Given the description of an element on the screen output the (x, y) to click on. 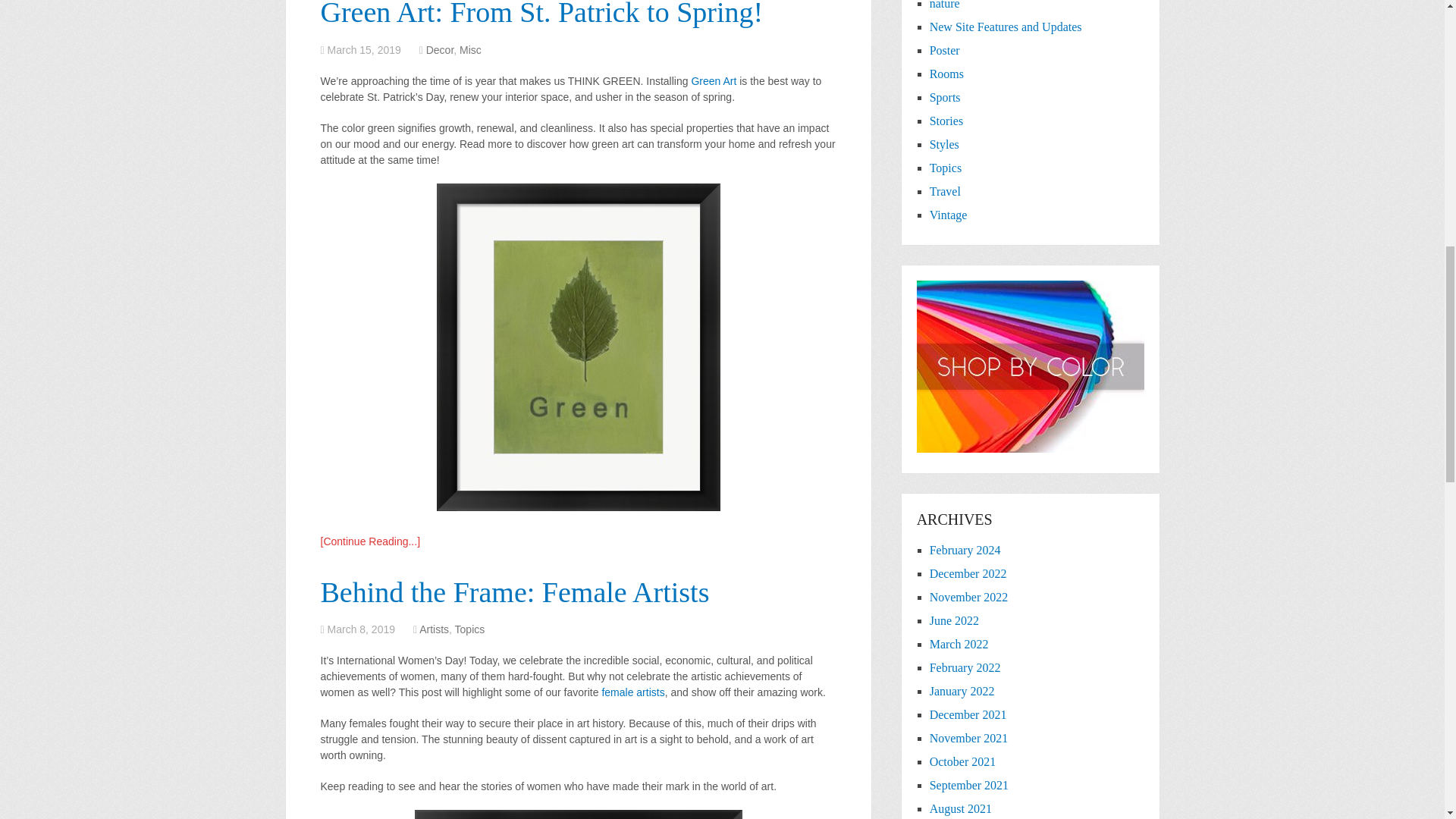
Decor (440, 50)
View all posts in Misc (470, 50)
Green Art (713, 80)
female artists (632, 692)
Artists (433, 629)
Behind the Frame: Female Artists (514, 592)
Misc (470, 50)
Green Art: From St. Patrick to Spring! (541, 13)
Green Art: From St. Patrick to Spring! (370, 541)
Green Art: From St. Patrick to Spring! (541, 13)
